Given the description of an element on the screen output the (x, y) to click on. 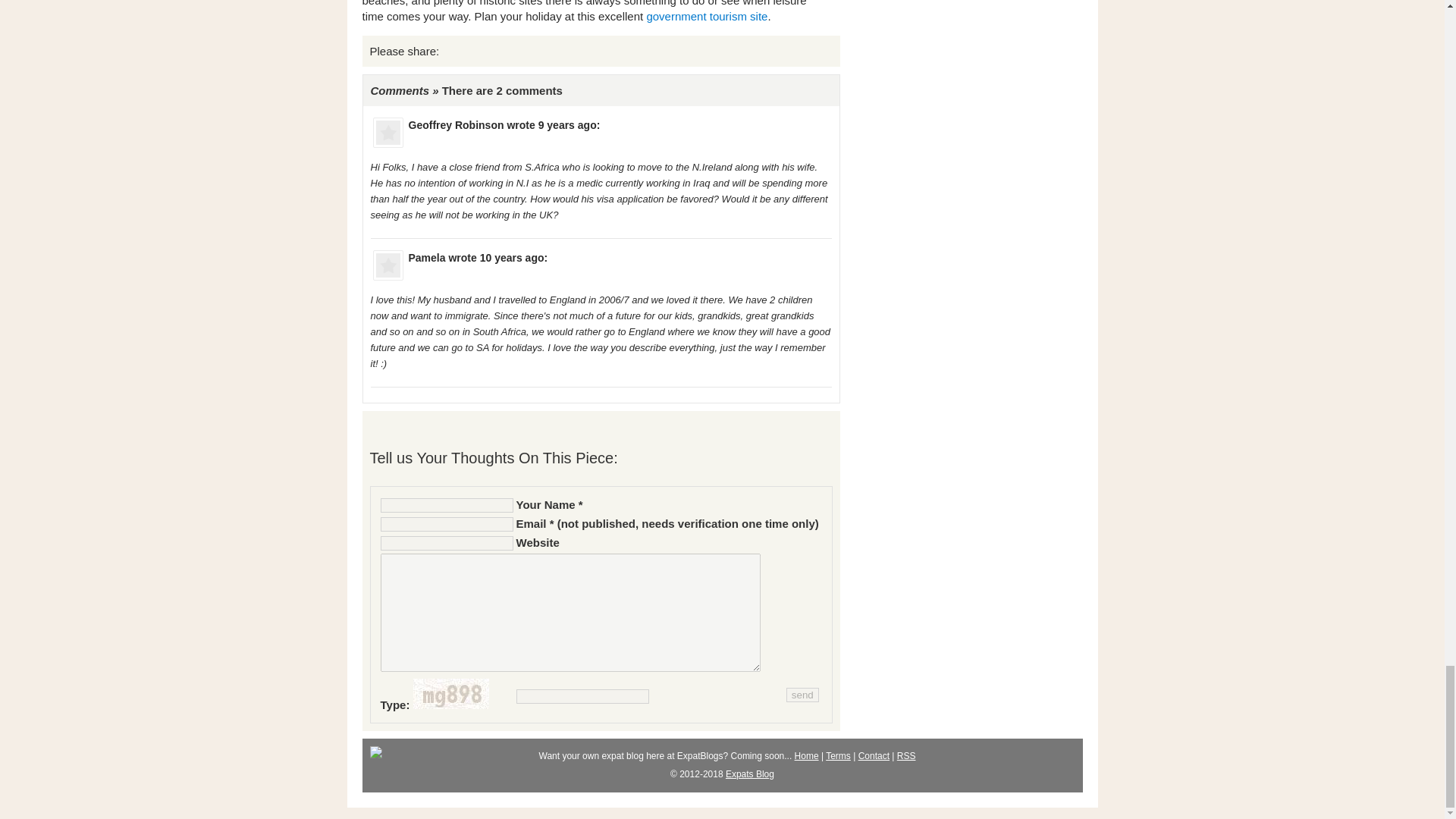
send (802, 694)
government tourism site (706, 15)
send (802, 694)
